Given the description of an element on the screen output the (x, y) to click on. 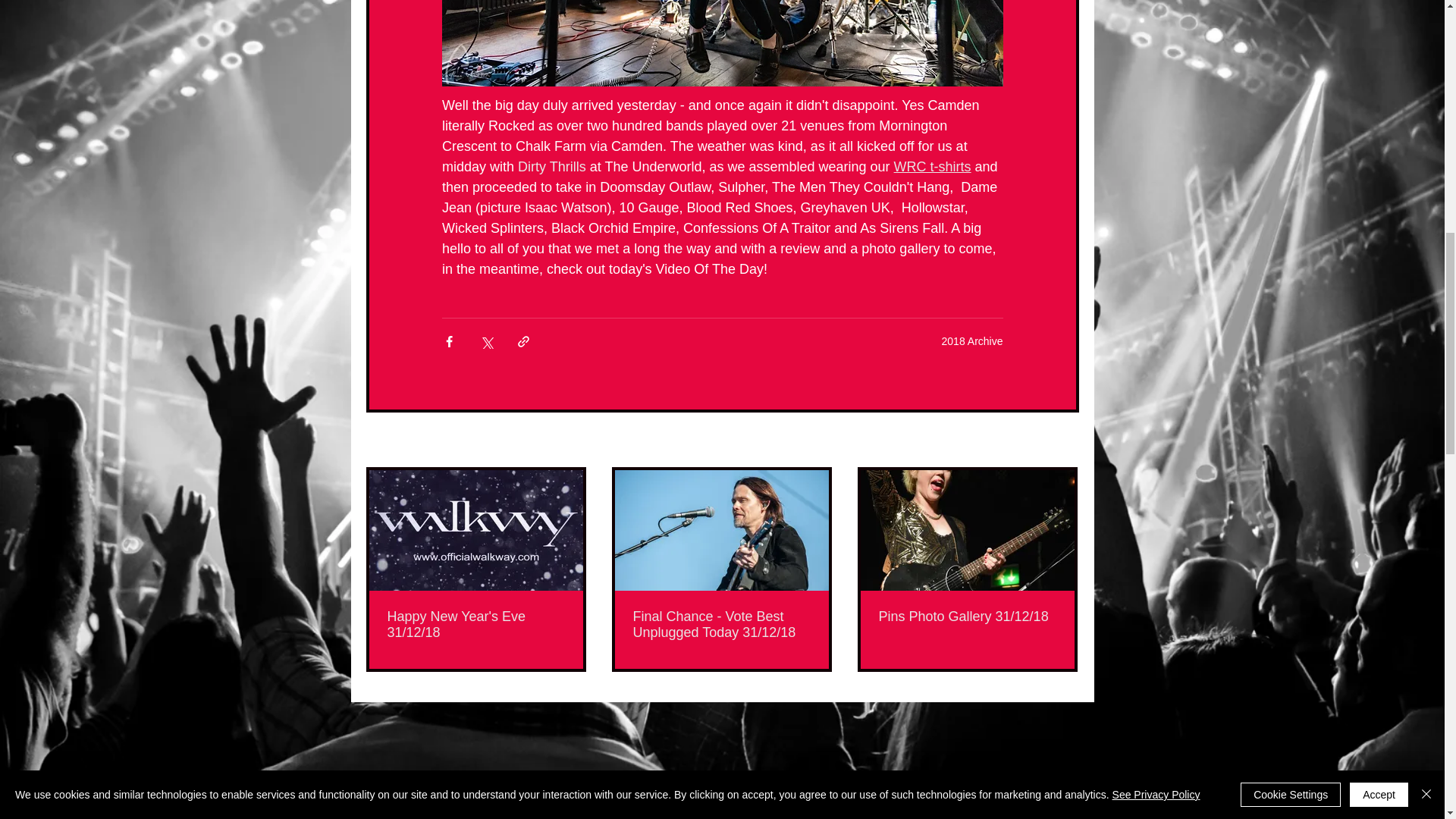
WRC t-shirts (932, 166)
Dirty Thrills (552, 166)
See All (1061, 440)
2018 Archive (972, 340)
